Given the description of an element on the screen output the (x, y) to click on. 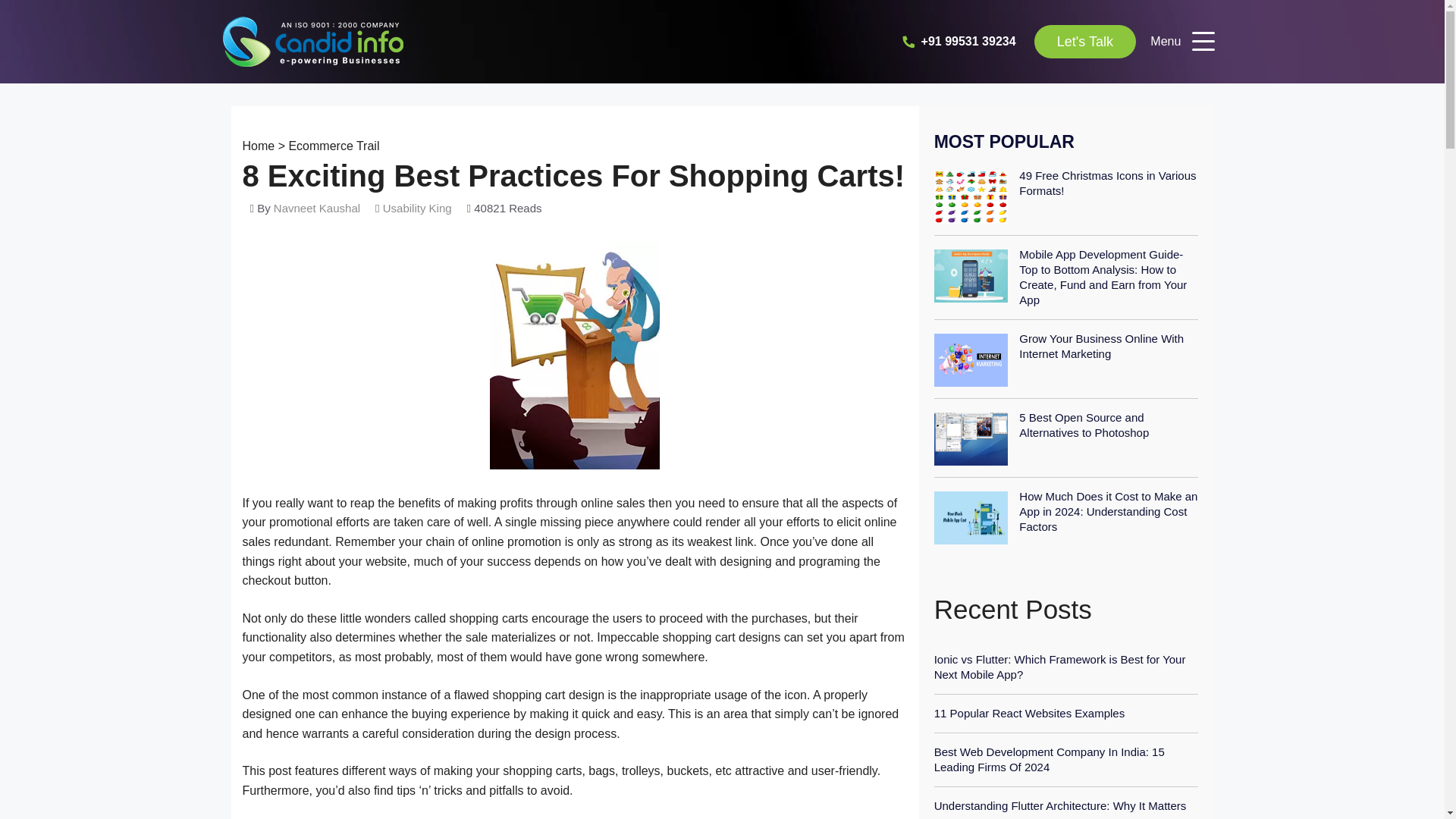
Let's Talk (1084, 41)
